Given the description of an element on the screen output the (x, y) to click on. 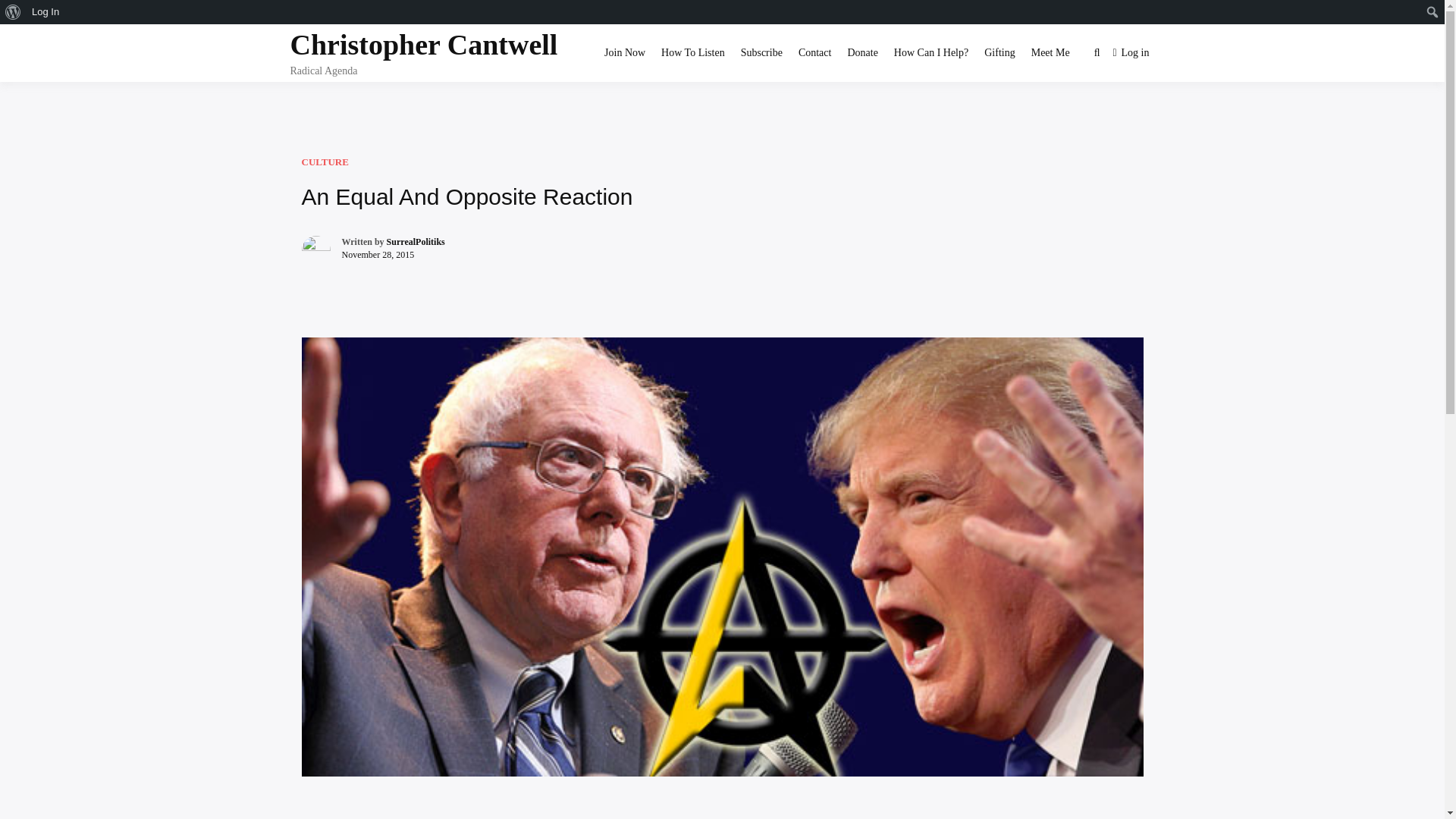
Contact (815, 52)
Christopher Cantwell (423, 44)
SurrealPolitiks (416, 241)
November 28, 2015 (376, 254)
Subscribe (761, 52)
CULTURE (325, 161)
Meet Me (1050, 52)
How Can I Help? (931, 52)
Join Now (624, 52)
How To Listen (693, 52)
